Given the description of an element on the screen output the (x, y) to click on. 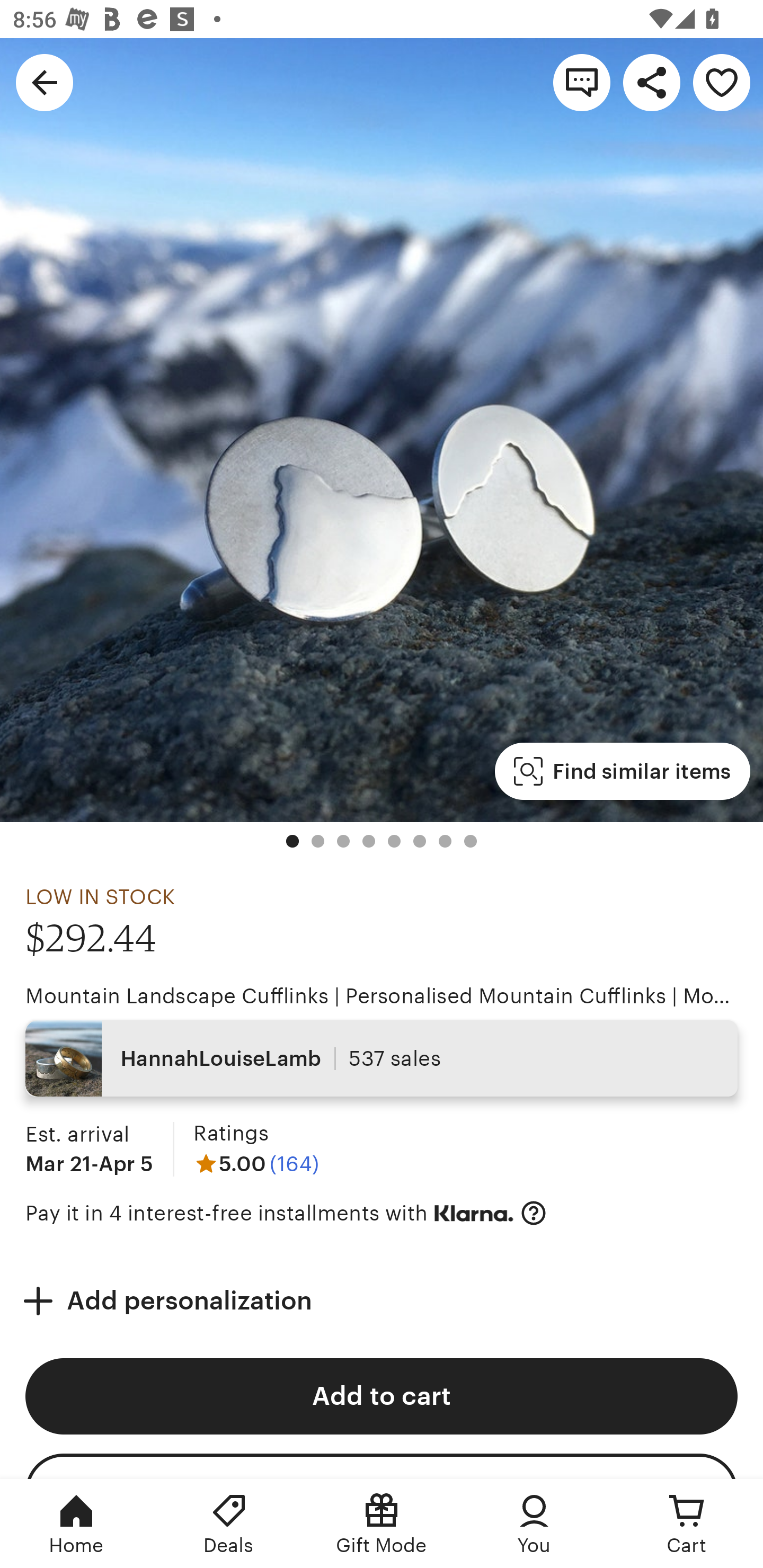
Navigate up (44, 81)
Contact shop (581, 81)
Share (651, 81)
Find similar items (622, 771)
HannahLouiseLamb 537 sales (381, 1058)
Ratings (230, 1133)
5.00 (164) (256, 1163)
Add personalization Add personalization Required (381, 1300)
Add to cart (381, 1395)
Deals (228, 1523)
Gift Mode (381, 1523)
You (533, 1523)
Cart (686, 1523)
